Given the description of an element on the screen output the (x, y) to click on. 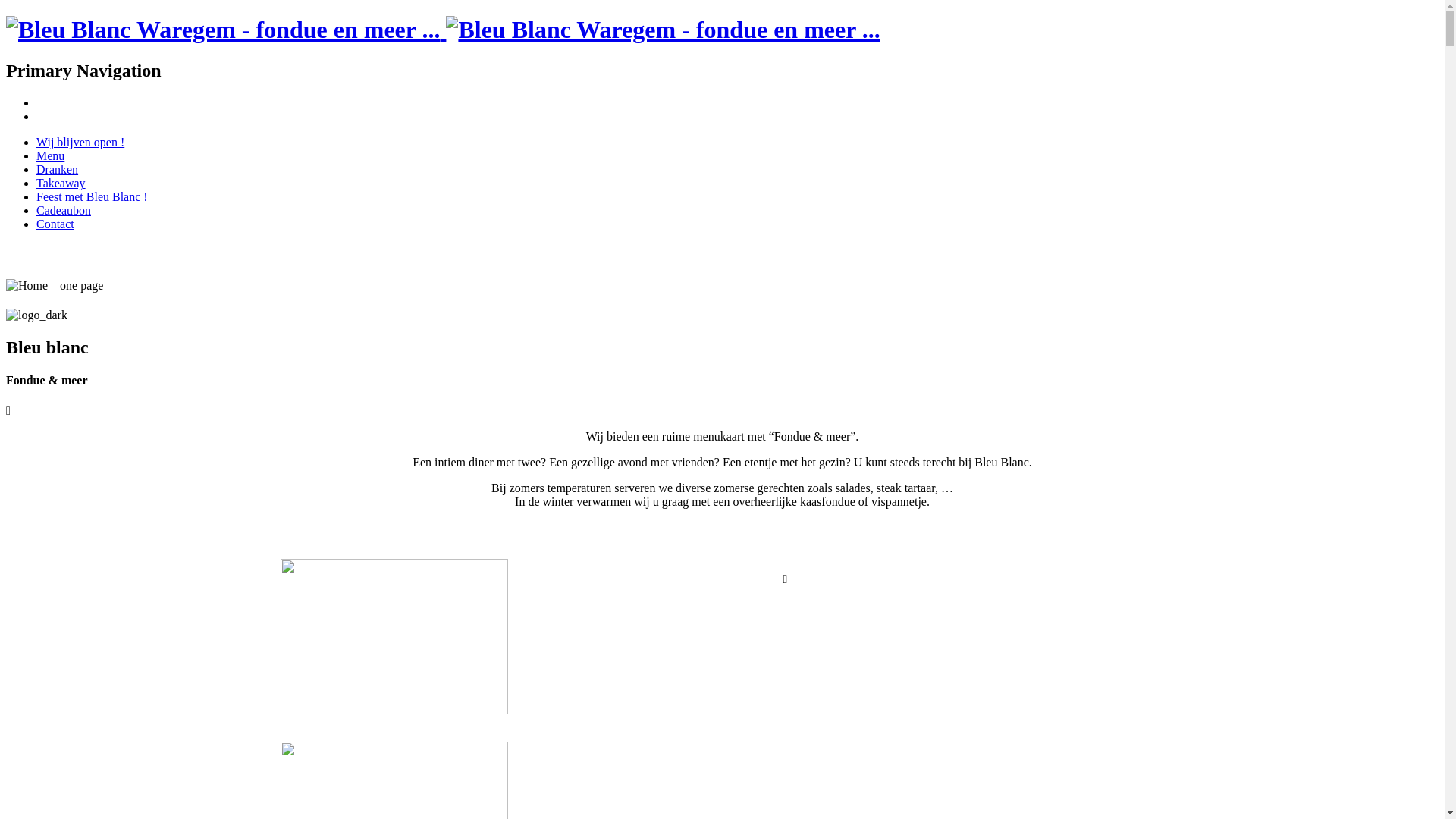
Menu Element type: text (50, 155)
Wij blijven open ! Element type: text (80, 141)
Contact Element type: text (55, 223)
Feest met Bleu Blanc ! Element type: text (91, 196)
Takeaway Element type: text (60, 182)
Dranken Element type: text (57, 169)
Cadeaubon Element type: text (63, 209)
